Given the description of an element on the screen output the (x, y) to click on. 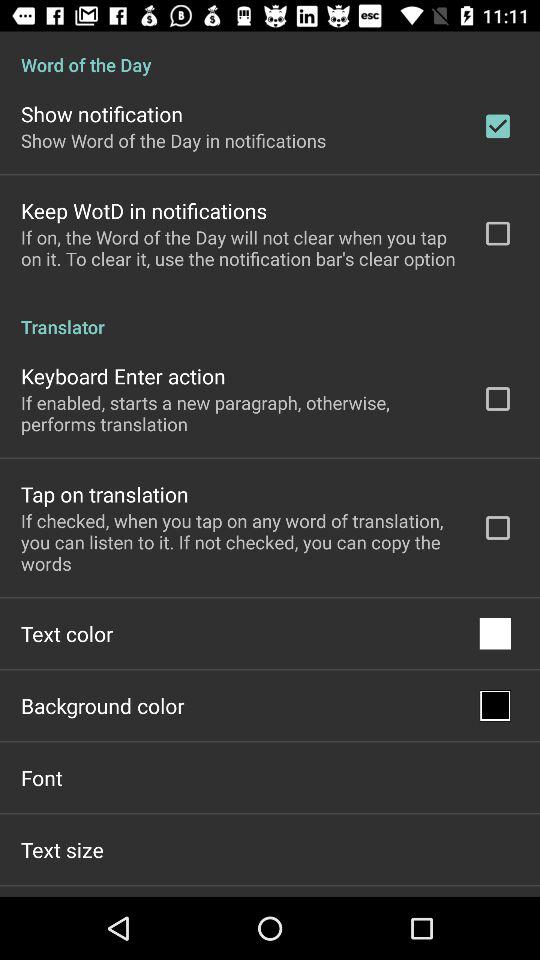
turn off the background color app (102, 705)
